Given the description of an element on the screen output the (x, y) to click on. 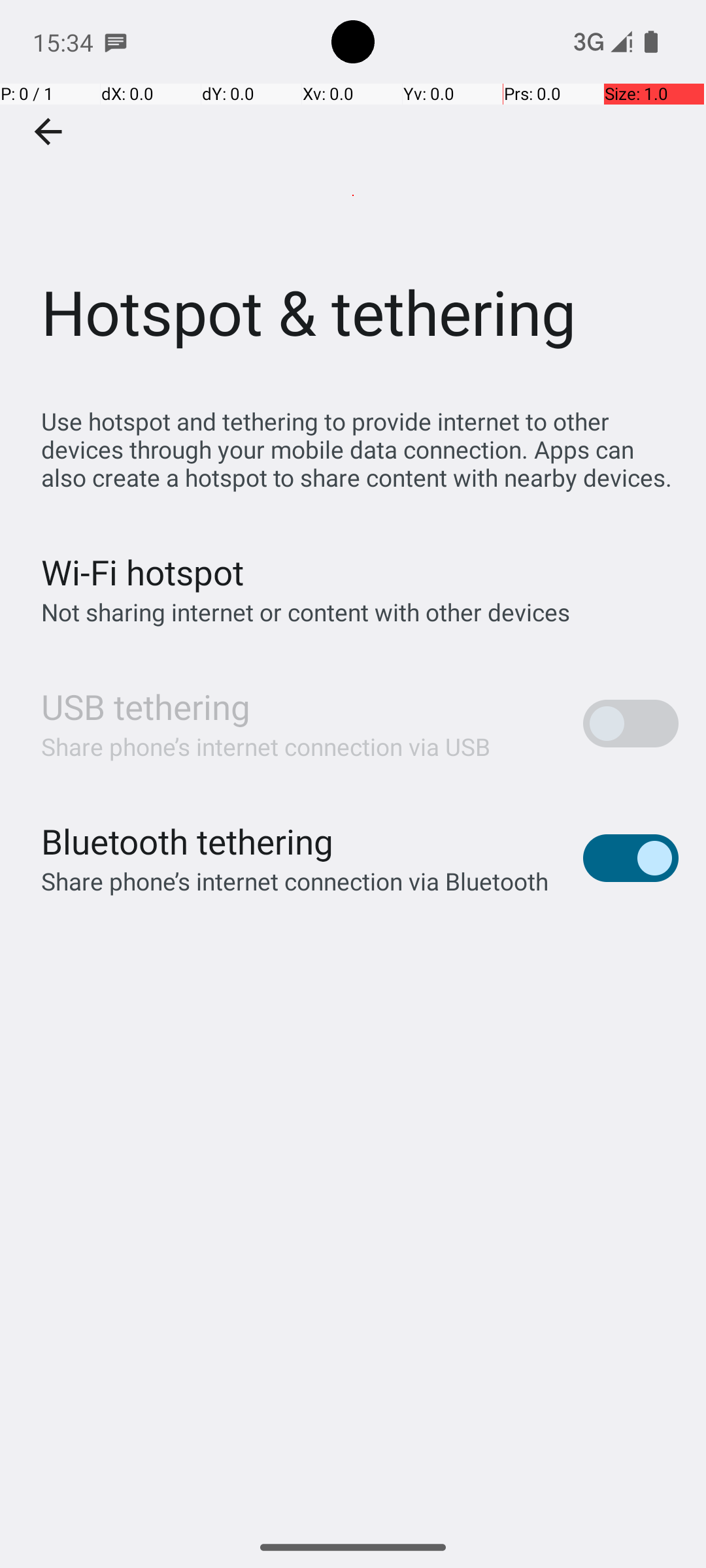
Hotspot & tethering Element type: android.widget.FrameLayout (353, 195)
Use hotspot and tethering to provide internet to other devices through your mobile data connection. Apps can also create a hotspot to share content with nearby devices. Element type: android.widget.TextView (359, 448)
Wi‑Fi hotspot Element type: android.widget.TextView (142, 571)
Not sharing internet or content with other devices Element type: android.widget.TextView (305, 611)
USB tethering Element type: android.widget.TextView (145, 706)
Share phone’s internet connection via USB Element type: android.widget.TextView (265, 746)
Bluetooth tethering Element type: android.widget.TextView (187, 840)
Share phone’s internet connection via Bluetooth Element type: android.widget.TextView (294, 880)
